Given the description of an element on the screen output the (x, y) to click on. 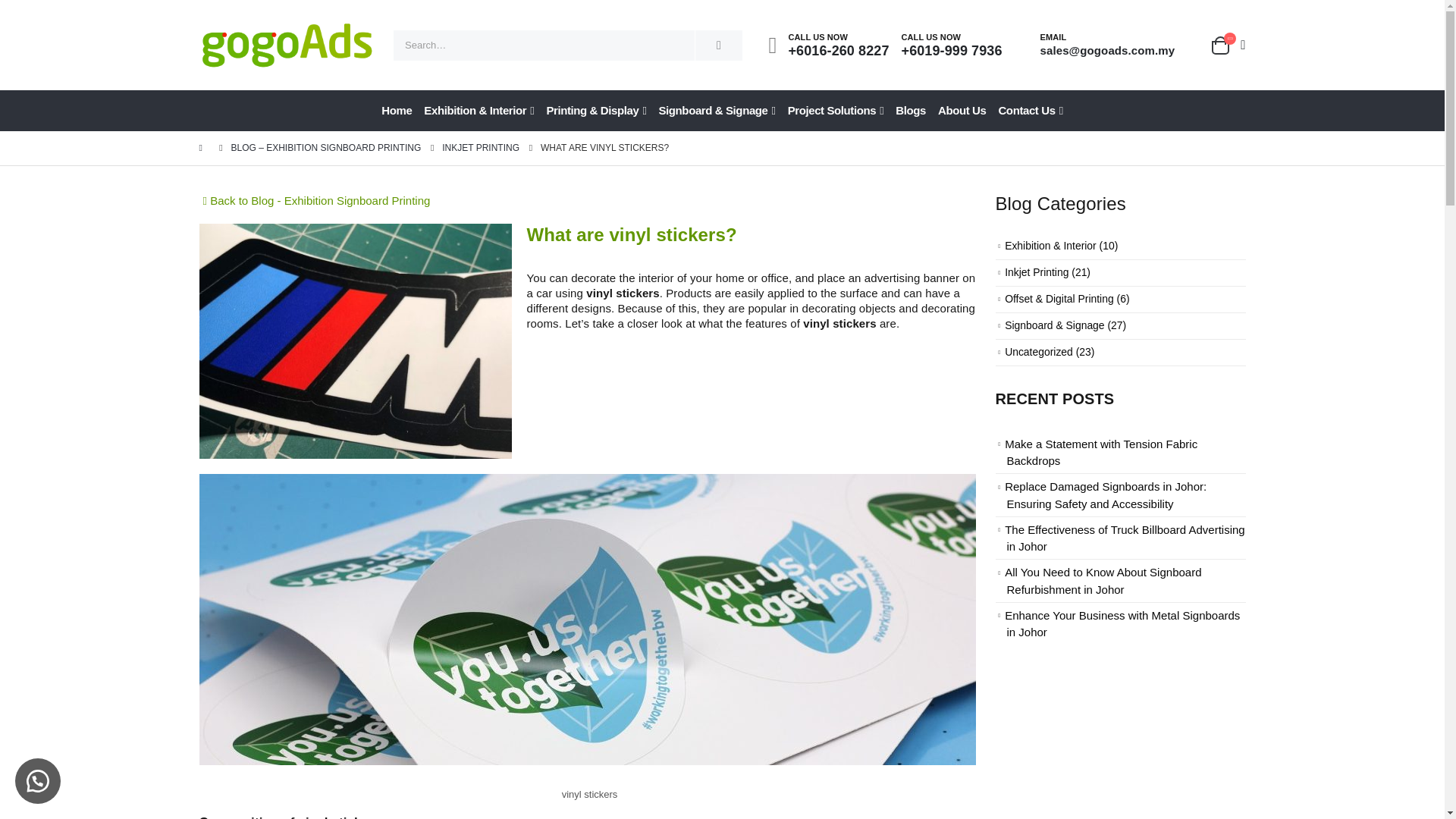
Search (718, 45)
Home (395, 110)
